Given the description of an element on the screen output the (x, y) to click on. 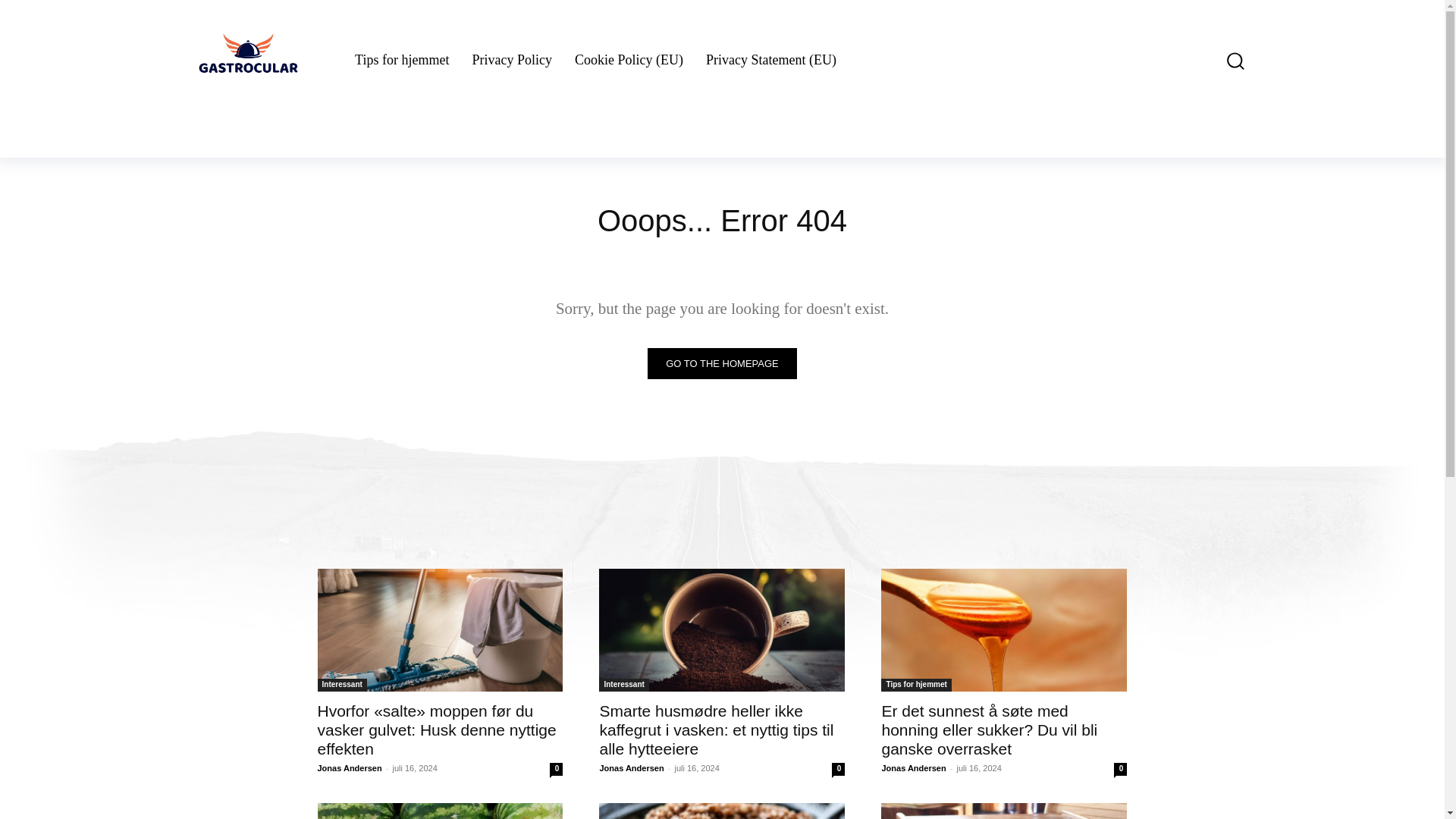
0 (556, 768)
Go to the homepage (721, 363)
Jonas Andersen (349, 768)
Interessant (622, 684)
Privacy Policy (511, 60)
GO TO THE HOMEPAGE (721, 363)
Tips for hjemmet (402, 60)
Interessant (341, 684)
